Given the description of an element on the screen output the (x, y) to click on. 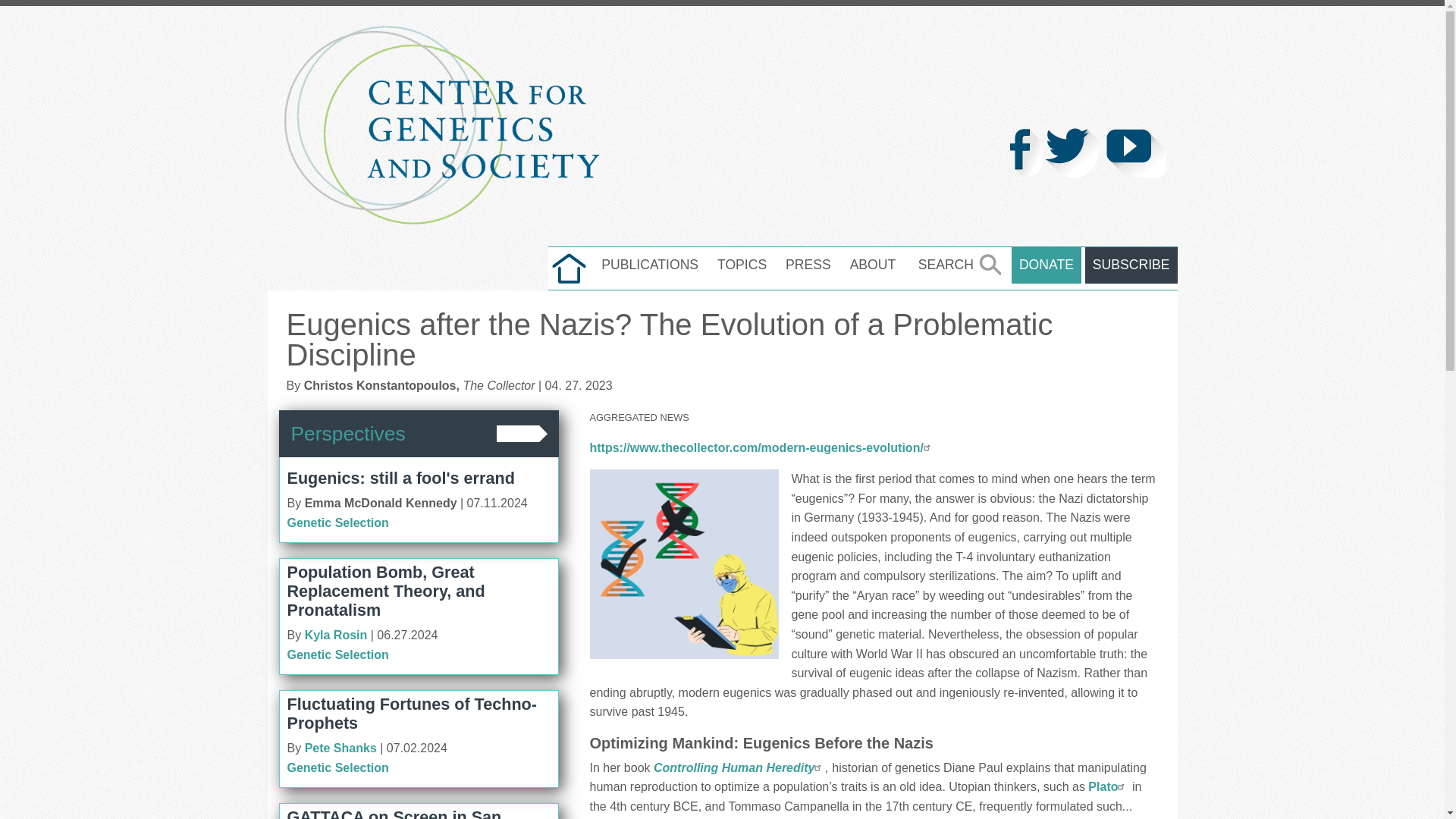
Fluctuating Fortunes of Techno-Prophets (410, 713)
GATTACA on Screen in San Rafael with Katie Hasson (393, 813)
SEARCH (957, 265)
HOME (568, 268)
Genetic Selection (337, 522)
PUBLICATIONS (650, 265)
DONATE (1046, 265)
PRESS (807, 265)
Make a Donation (1046, 265)
Kyla Rosin (336, 634)
ABOUT (873, 265)
Genetic Selection (337, 767)
Pete Shanks (340, 748)
Eugenics: still a fool's errand (399, 477)
